Given the description of an element on the screen output the (x, y) to click on. 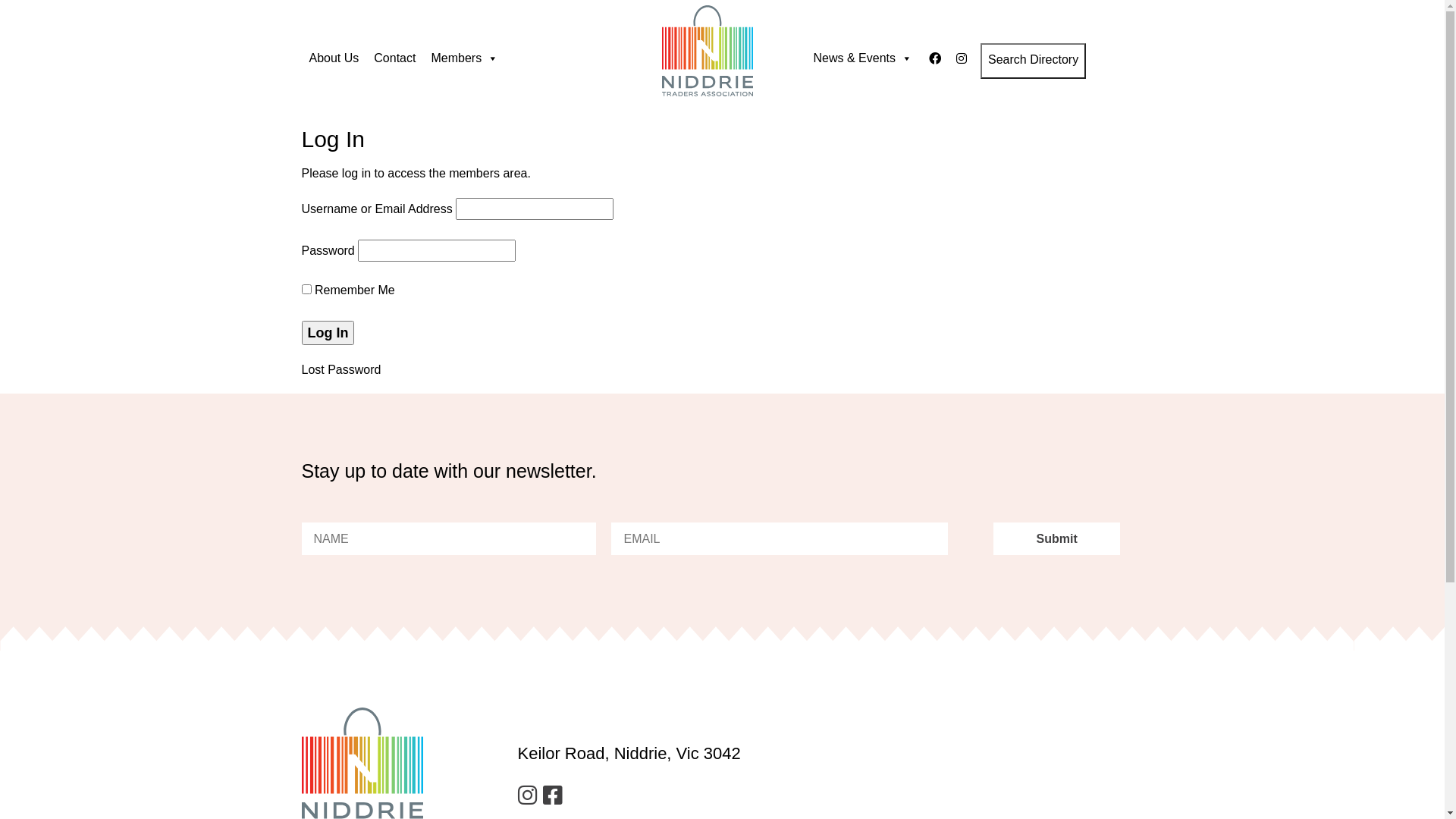
Members Element type: text (464, 58)
Search Directory Element type: text (1032, 60)
News & Events Element type: text (862, 58)
Instagram Element type: text (529, 795)
About Us Element type: text (334, 58)
Lost Password Element type: text (341, 369)
Submit Element type: text (1056, 538)
Contact Element type: text (394, 58)
Facebook Element type: text (554, 795)
Log In Element type: text (327, 332)
